Given the description of an element on the screen output the (x, y) to click on. 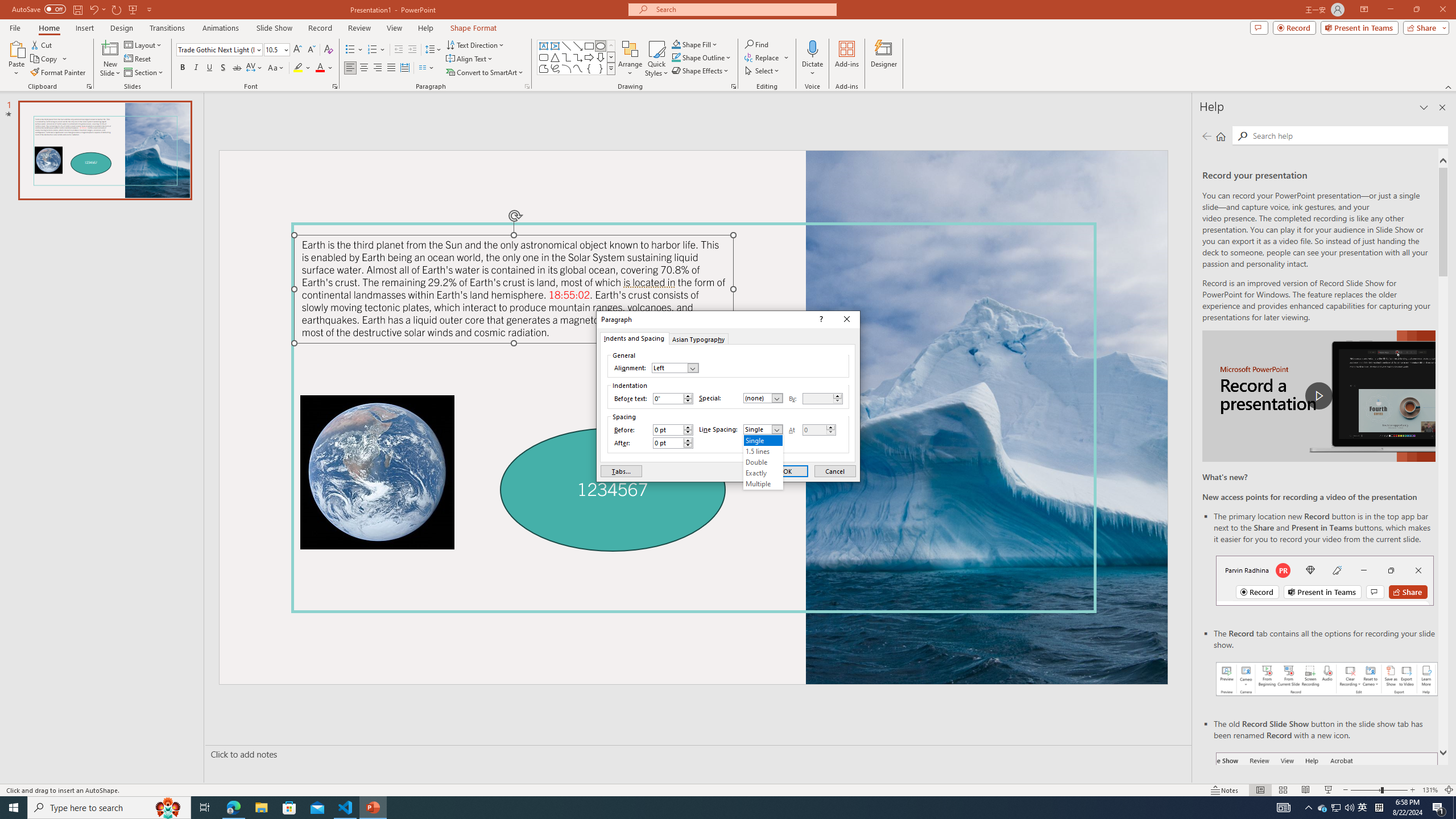
Alignment (675, 367)
